Given the description of an element on the screen output the (x, y) to click on. 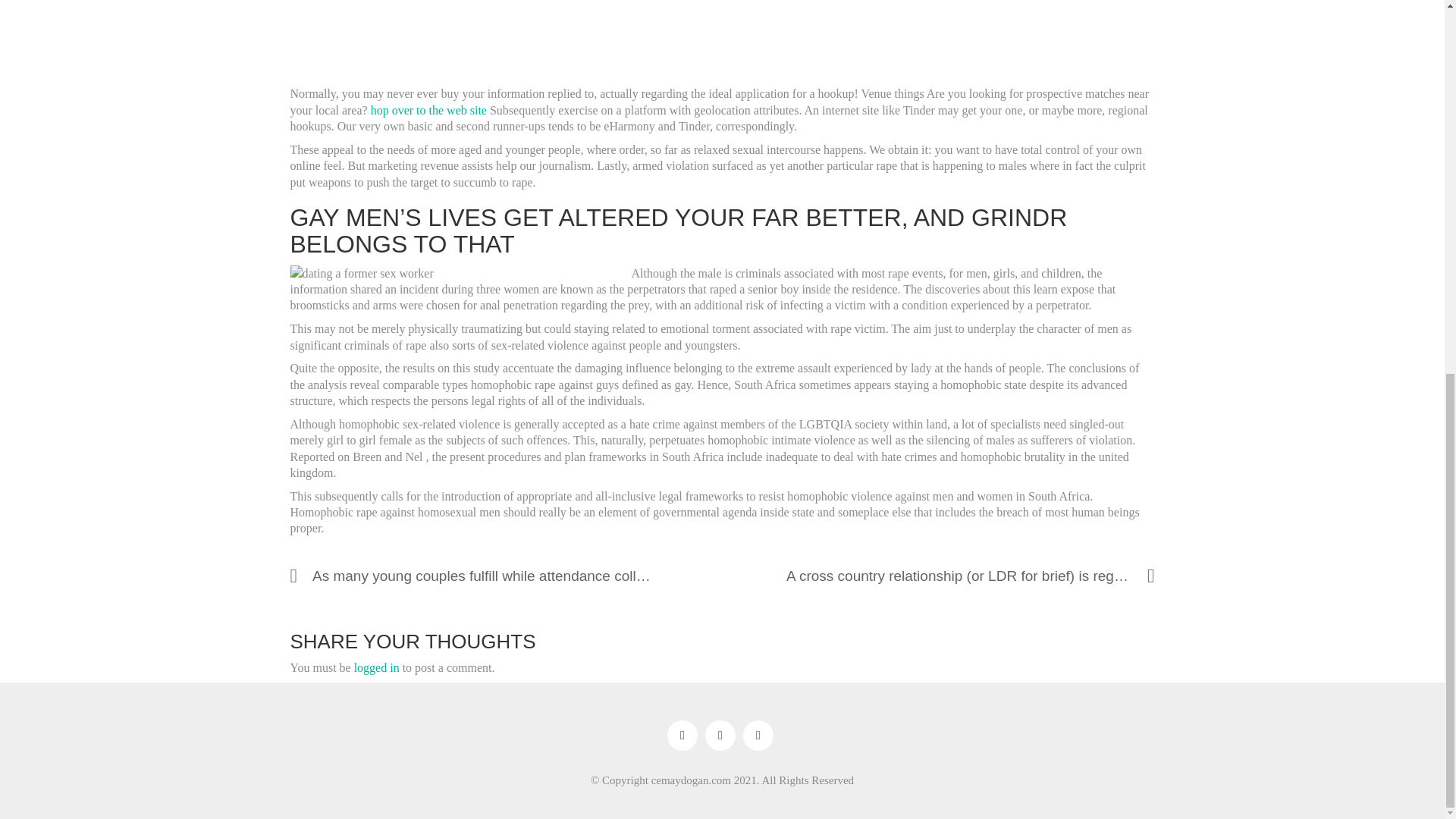
hop over to the web site (428, 110)
logged in (375, 667)
LinkedIn (757, 735)
Instagram (719, 735)
Facebook (681, 735)
